Given the description of an element on the screen output the (x, y) to click on. 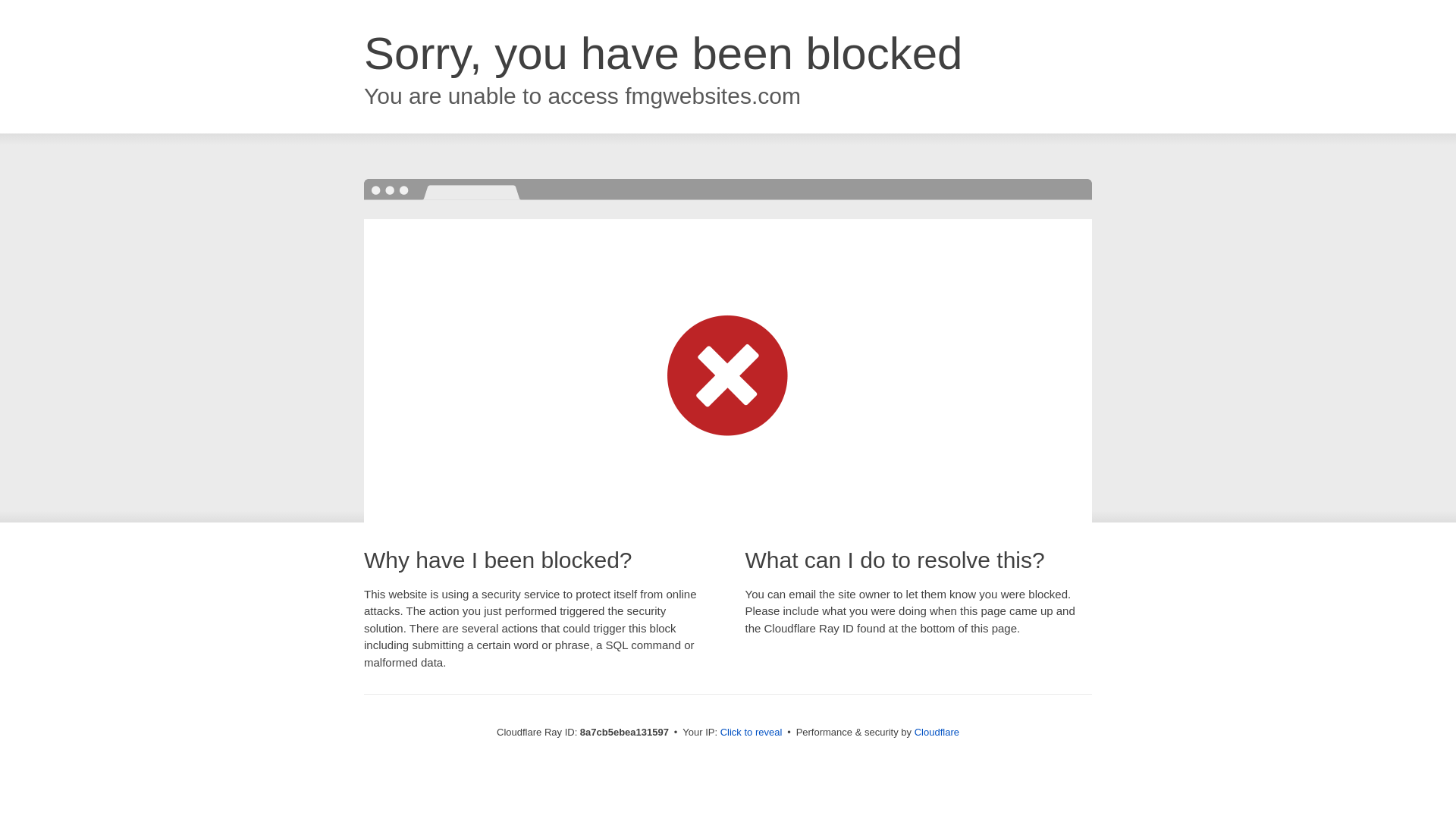
Click to reveal (751, 732)
Cloudflare (936, 731)
